Given the description of an element on the screen output the (x, y) to click on. 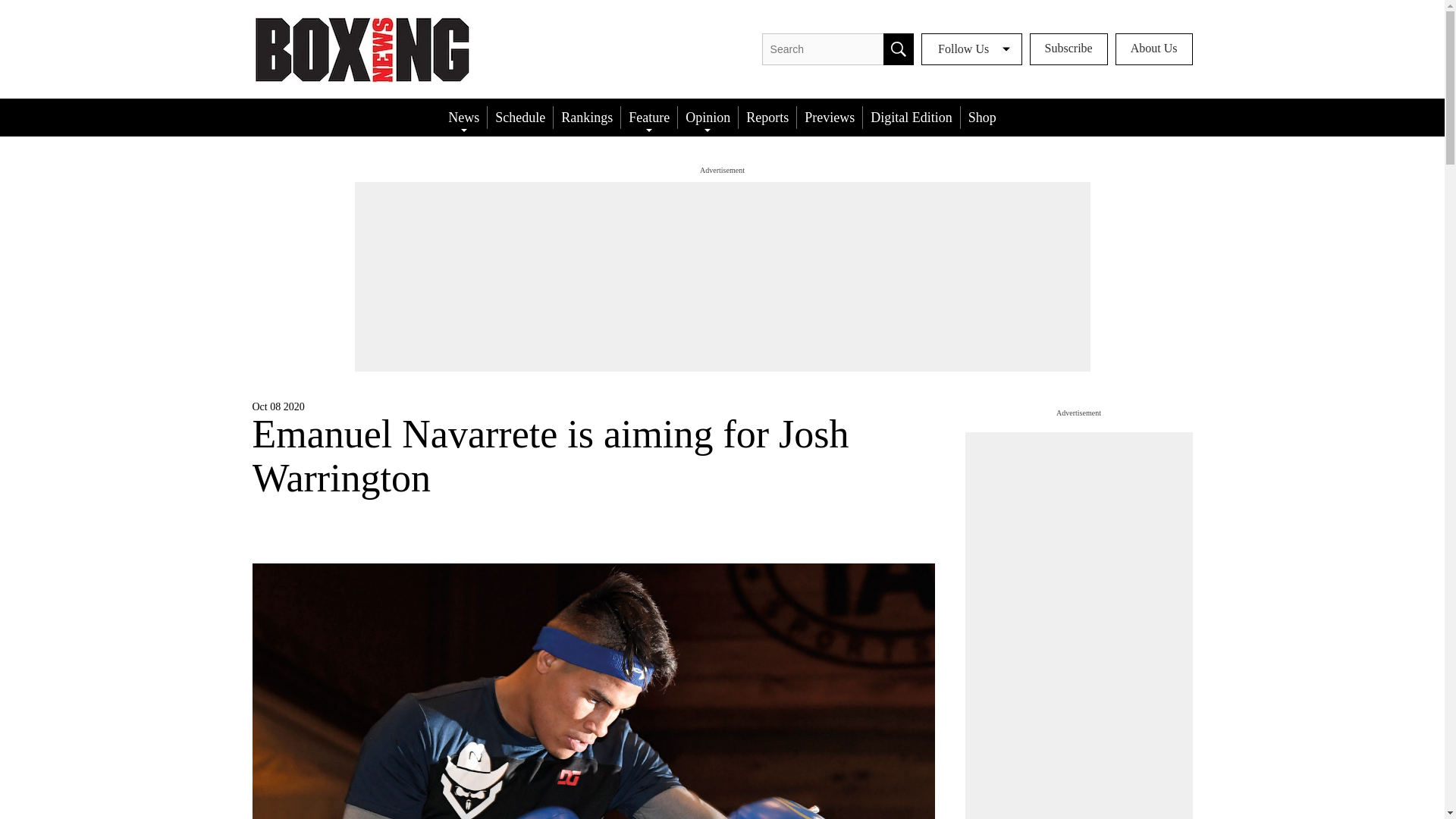
Follow Us (971, 49)
Previews (828, 117)
Schedule (520, 117)
Subscribe (1068, 49)
Digital Edition (911, 117)
Feature (649, 117)
News (463, 117)
About Us (1153, 49)
Opinion (708, 117)
Rankings (586, 117)
